Given the description of an element on the screen output the (x, y) to click on. 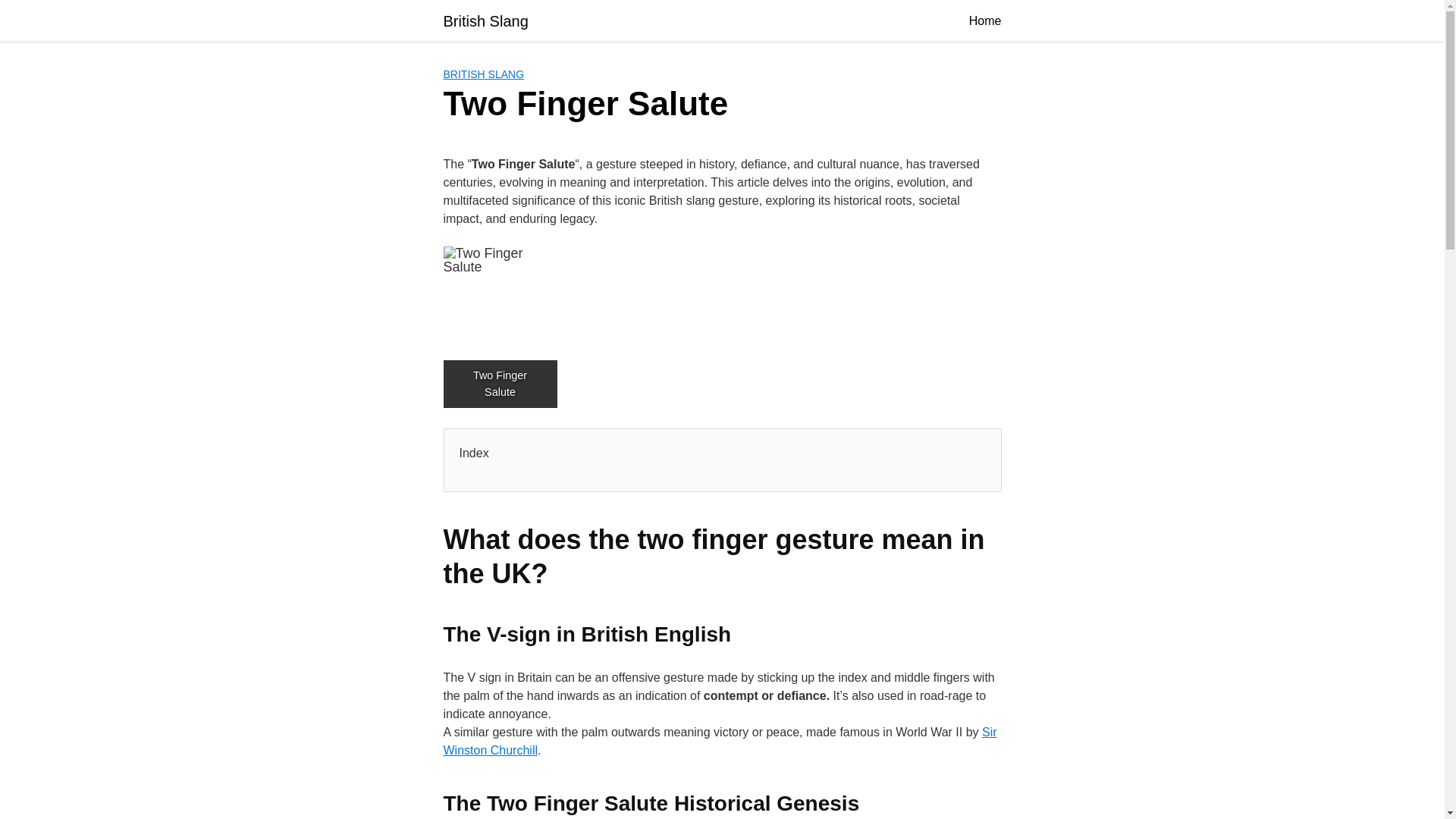
Sir Winston Churchill V Sign (718, 740)
British Slang (484, 20)
Two Finger Salute (499, 303)
Home (985, 20)
BRITISH SLANG (483, 73)
Sir Winston Churchill (718, 740)
